Given the description of an element on the screen output the (x, y) to click on. 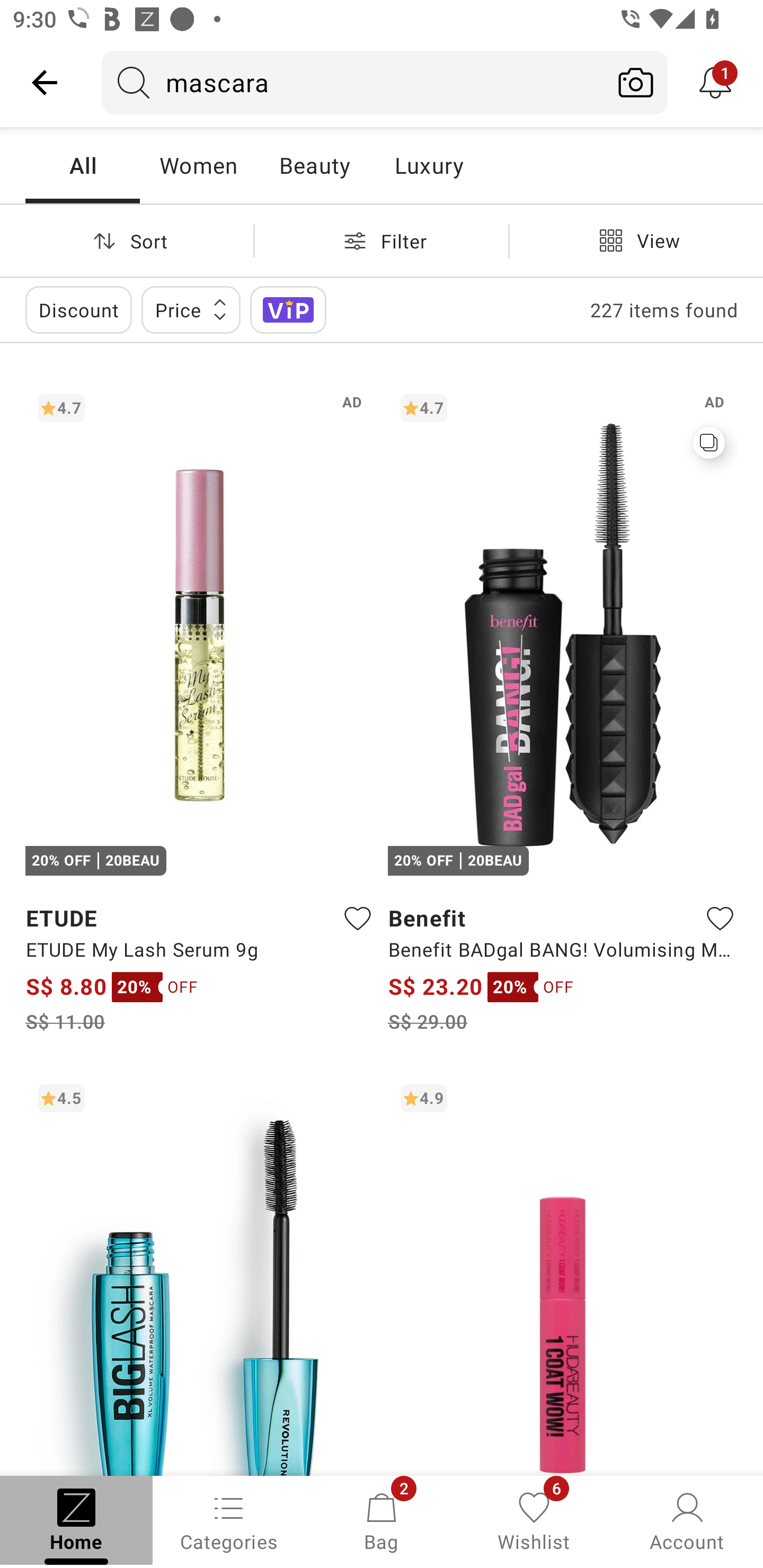
Navigate up (44, 82)
mascara (352, 82)
Women (198, 165)
Beauty (314, 165)
Luxury (428, 165)
Sort (126, 240)
Filter (381, 240)
View (636, 240)
Discount (78, 309)
Price (190, 309)
4.5 (200, 1272)
4.9 (562, 1272)
Categories (228, 1519)
Bag, 2 new notifications Bag (381, 1519)
Wishlist, 6 new notifications Wishlist (533, 1519)
Account (686, 1519)
